Given the description of an element on the screen output the (x, y) to click on. 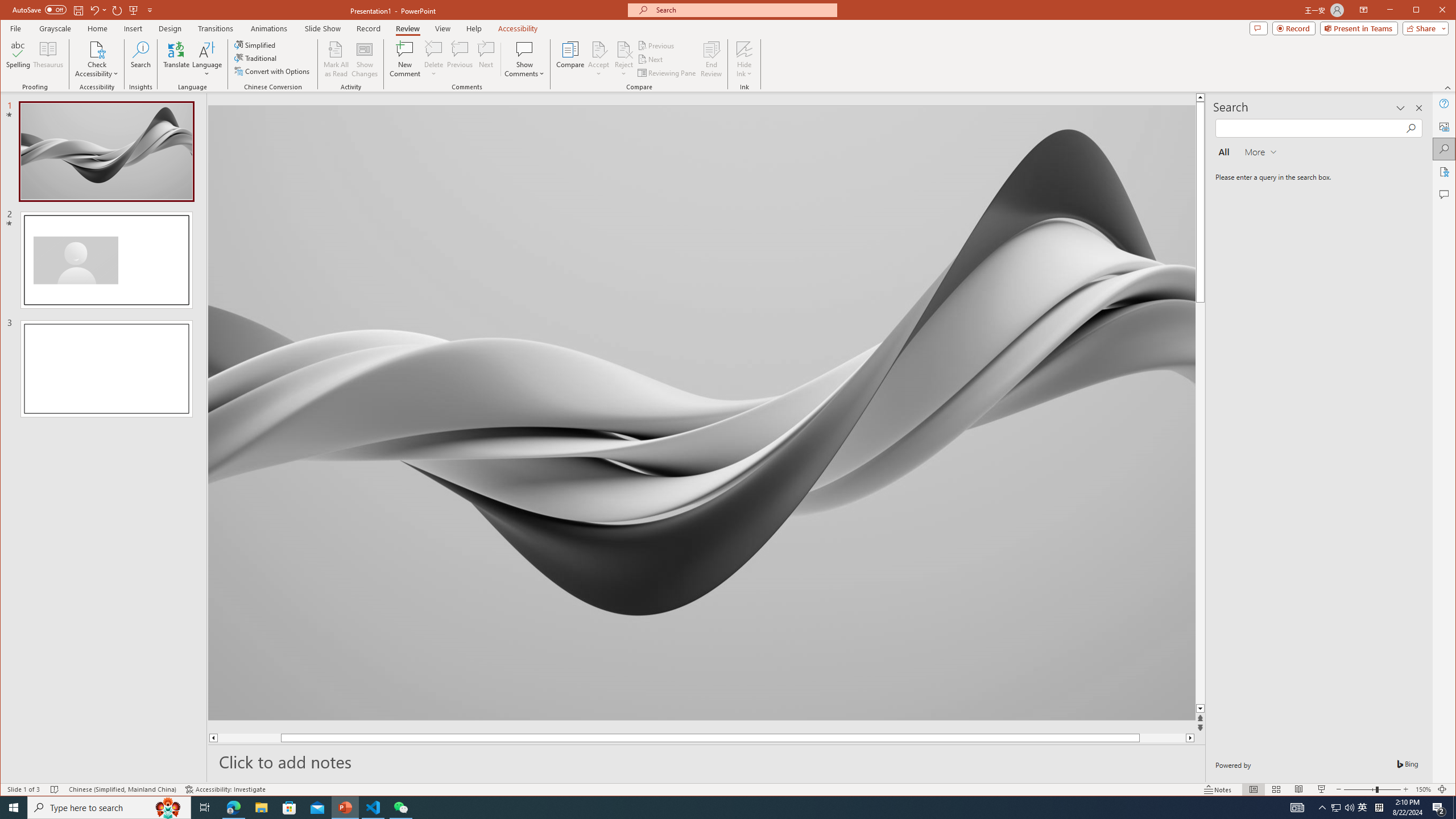
Next (651, 59)
